Given the description of an element on the screen output the (x, y) to click on. 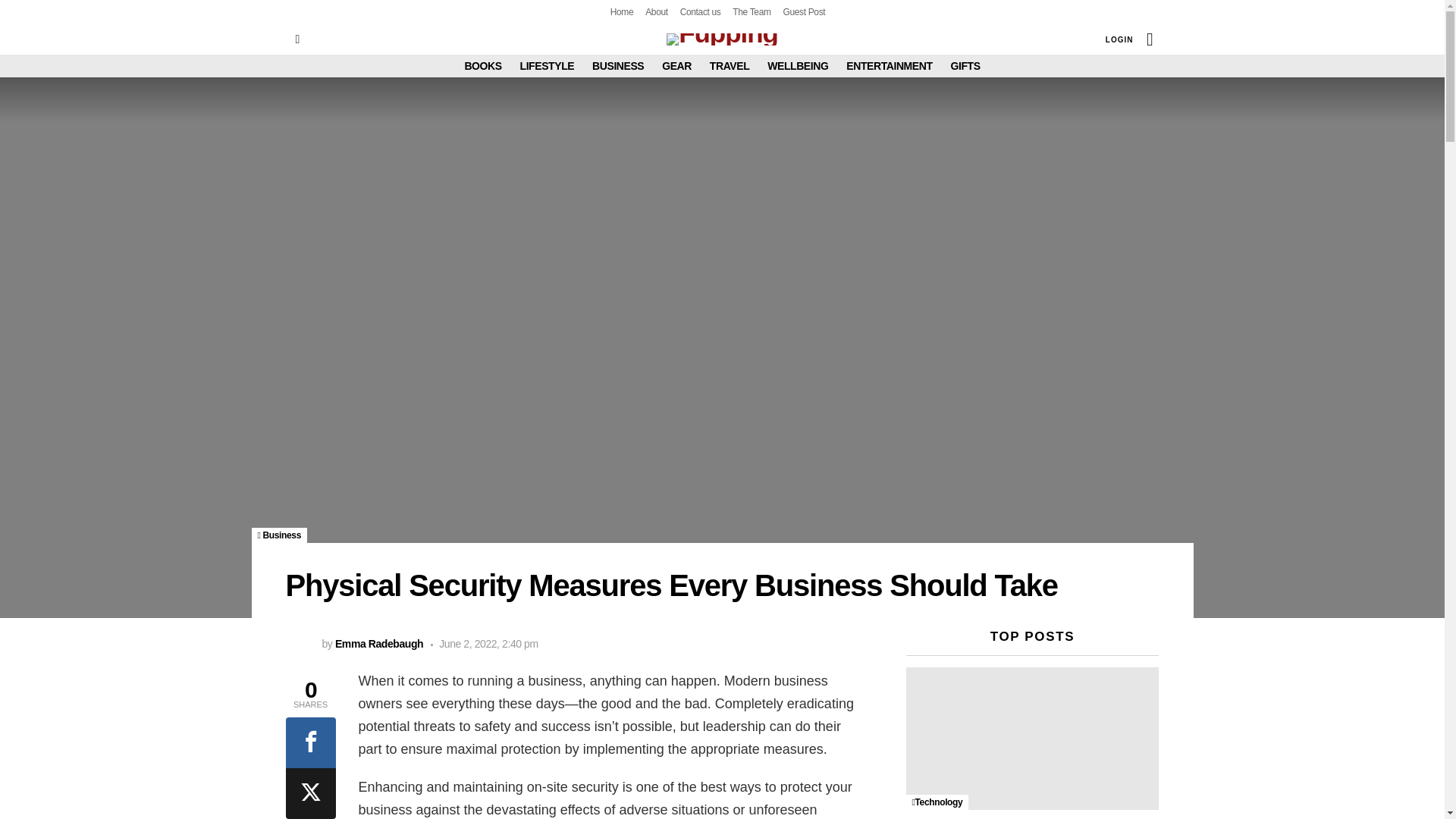
Emma Radebaugh (378, 644)
GIFTS (964, 65)
Menu (296, 39)
Guest Post (804, 12)
WELLBEING (797, 65)
The Team (751, 12)
ENTERTAINMENT (888, 65)
GEAR (675, 65)
Home (621, 12)
Posts by Emma Radebaugh (378, 644)
TRAVEL (729, 65)
BUSINESS (617, 65)
About (656, 12)
Contact us (699, 12)
BOOKS (482, 65)
